Given the description of an element on the screen output the (x, y) to click on. 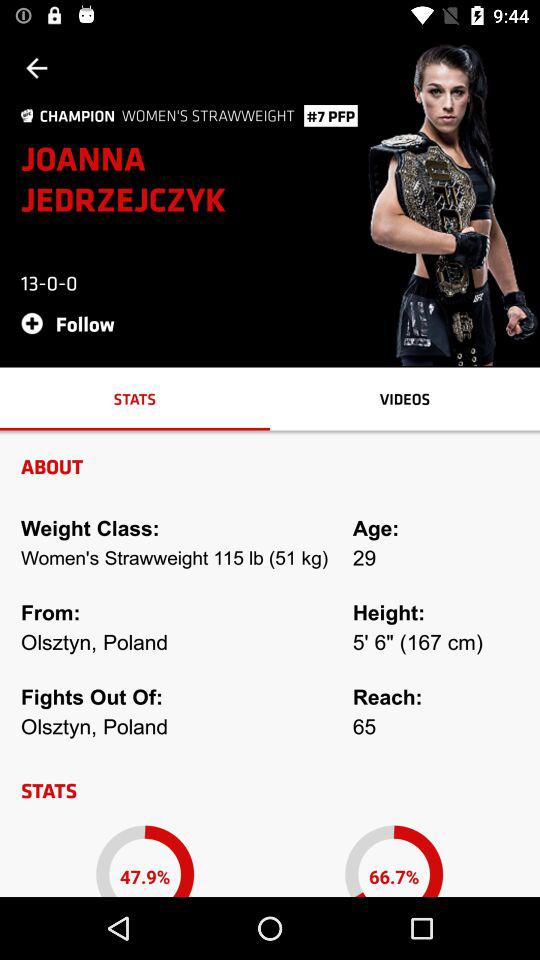
tap icon below 13-0-0 (74, 322)
